Given the description of an element on the screen output the (x, y) to click on. 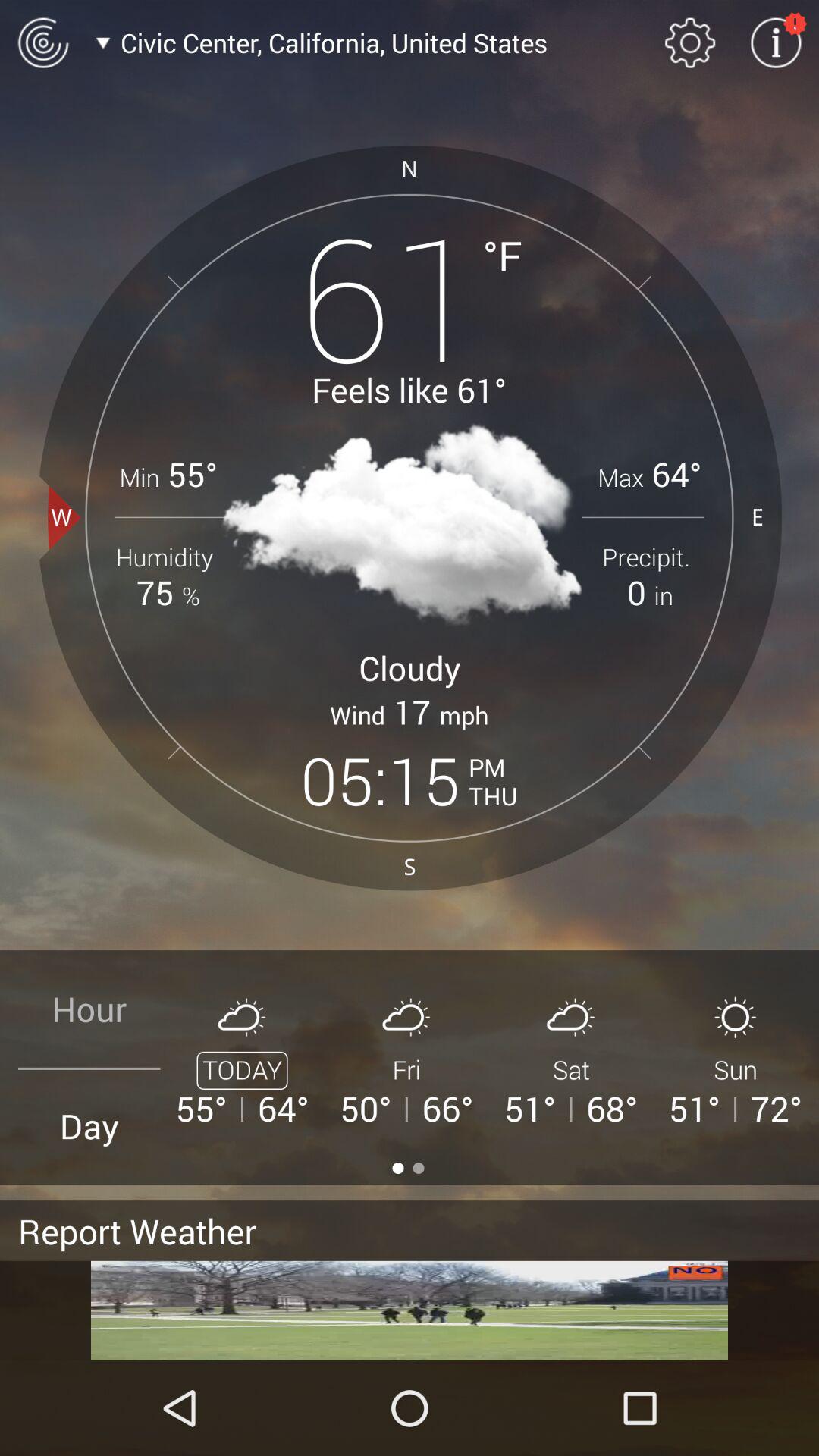
add the option (409, 1310)
